Given the description of an element on the screen output the (x, y) to click on. 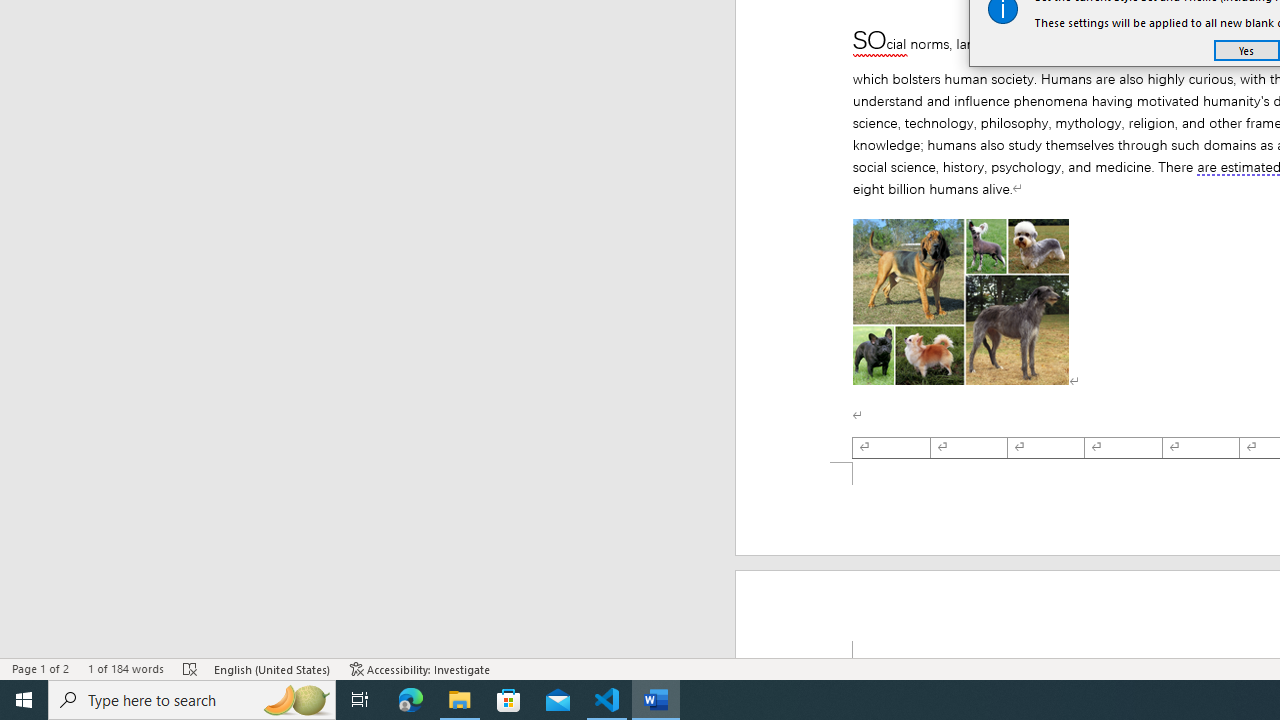
Morphological variation in six dogs (960, 301)
Visual Studio Code - 1 running window (607, 699)
Microsoft Store (509, 699)
Word - 1 running window (656, 699)
Task View (359, 699)
Microsoft Edge (411, 699)
Search highlights icon opens search home window (295, 699)
Type here to search (191, 699)
Page Number Page 1 of 2 (39, 668)
Spelling and Grammar Check Errors (191, 668)
File Explorer - 1 running window (460, 699)
Start (24, 699)
